Given the description of an element on the screen output the (x, y) to click on. 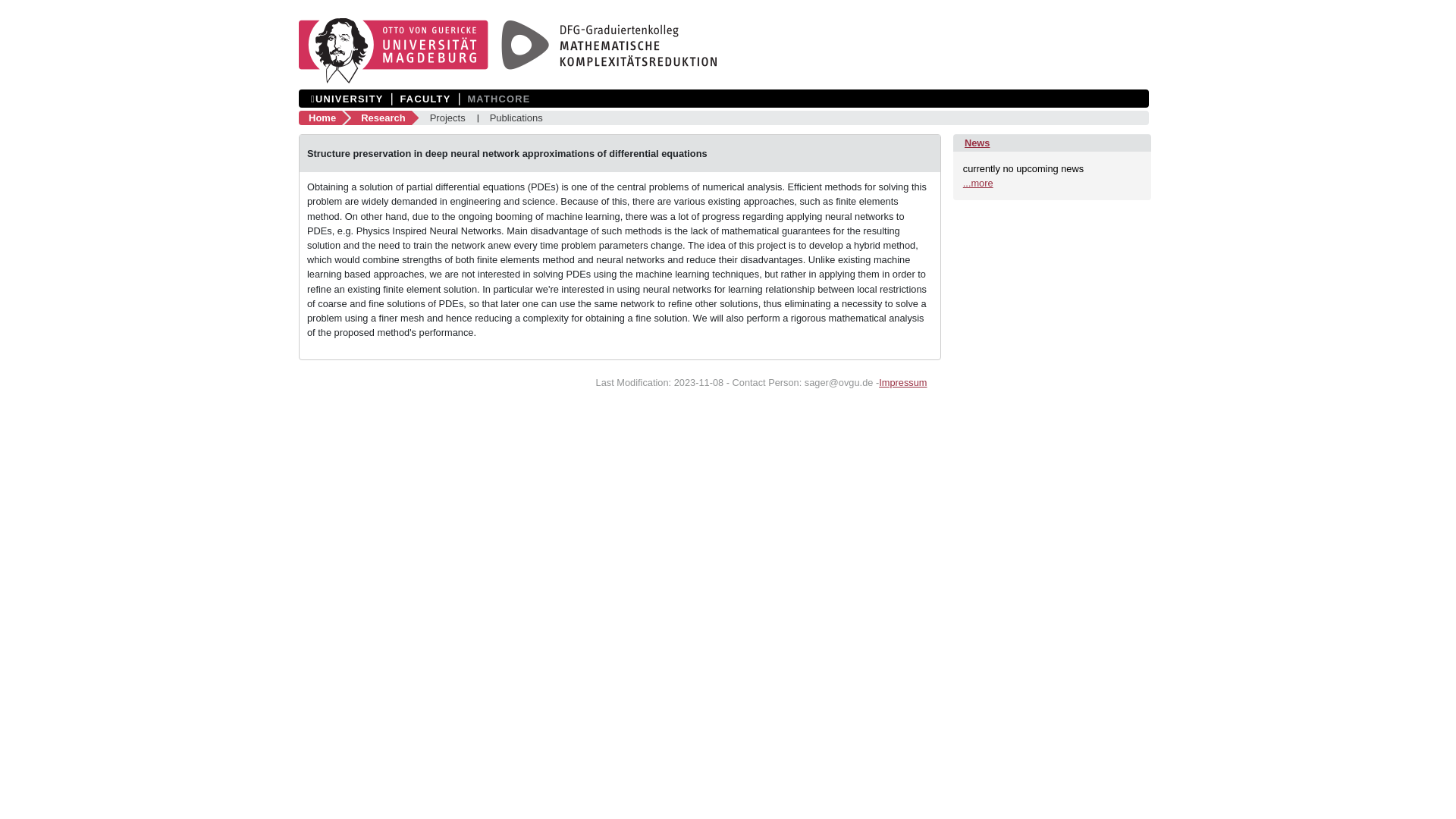
Publications (516, 117)
...more (977, 183)
Projects (447, 117)
FACULTY (423, 98)
Research (386, 117)
News (976, 142)
MATHCORE (498, 98)
Home (325, 117)
UNIVERSITY (347, 98)
